Given the description of an element on the screen output the (x, y) to click on. 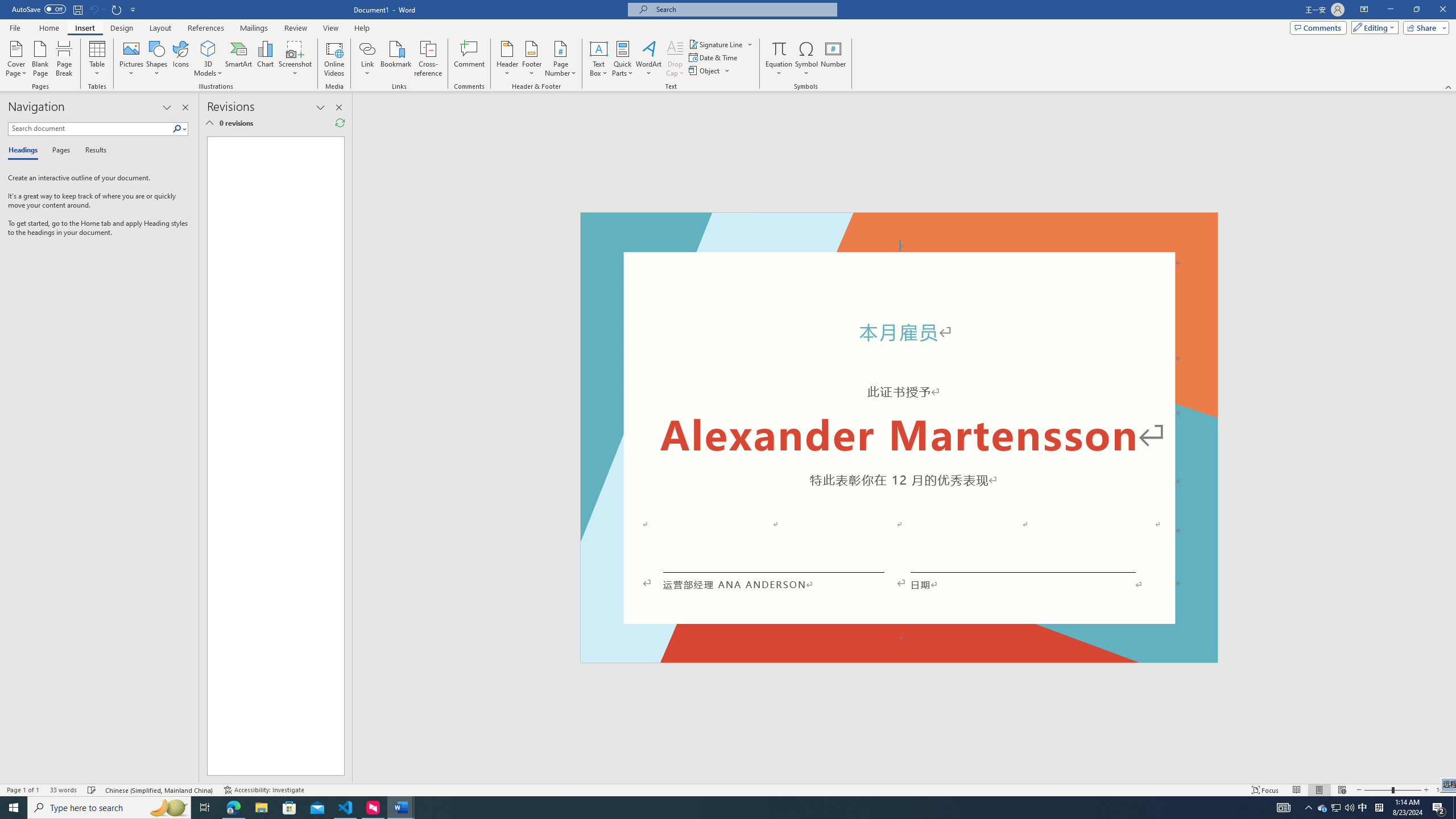
Symbol (806, 58)
Pictures (131, 58)
Screenshot (295, 58)
Footer (531, 58)
Can't Undo (96, 9)
Comment (469, 58)
